Given the description of an element on the screen output the (x, y) to click on. 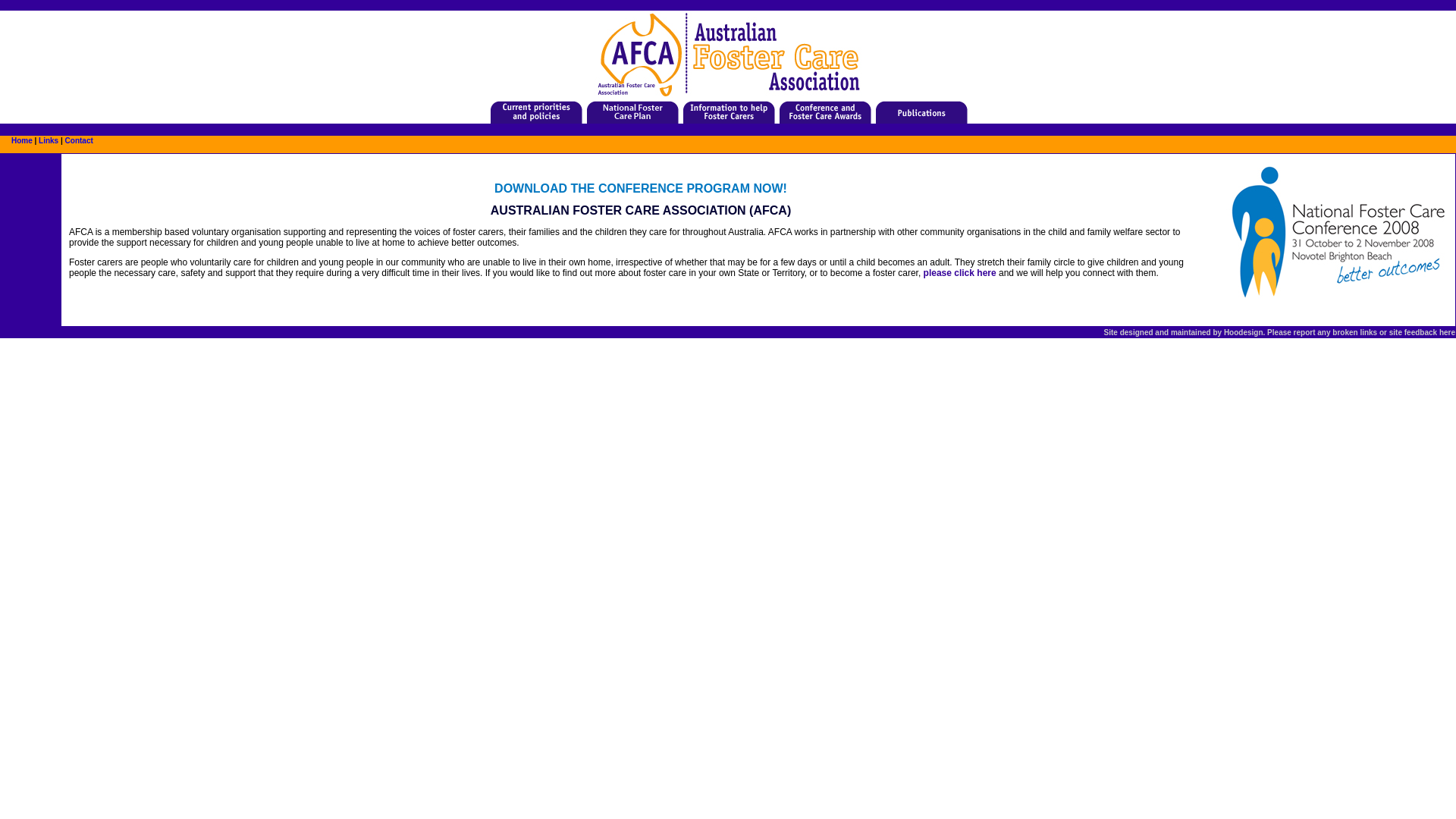
please click here Element type: text (959, 272)
here Element type: text (1447, 332)
Contact Element type: text (79, 140)
Home Element type: text (21, 140)
Links Element type: text (48, 140)
DOWNLOAD THE CONFERENCE PROGRAM NOW! Element type: text (640, 188)
